Given the description of an element on the screen output the (x, y) to click on. 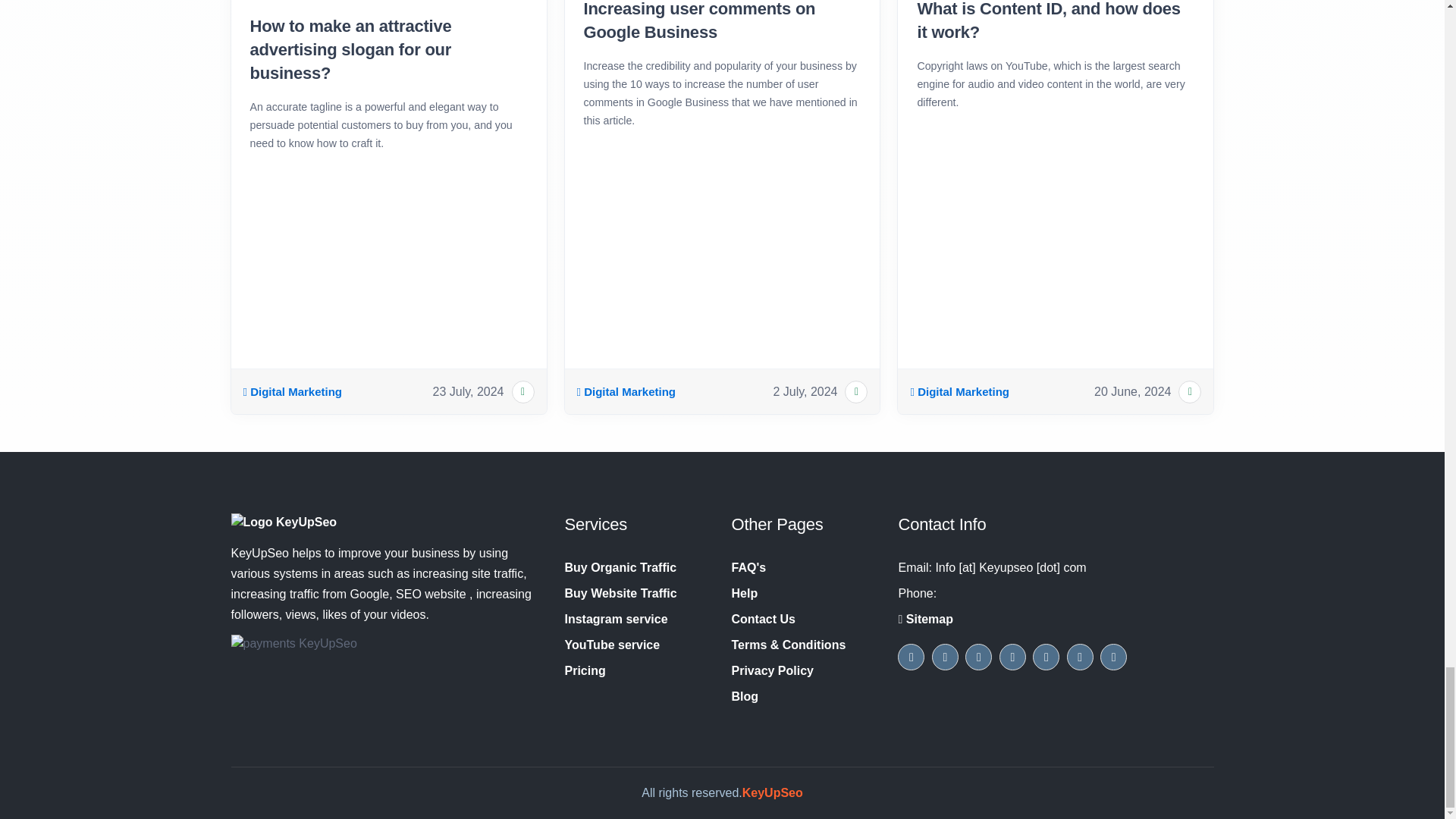
What is Content ID, and how does it work? (1055, 22)
FAQ's (747, 567)
Buy Organic Traffic (620, 567)
What is Content ID, and how does it work? (1055, 22)
Buy Website Traffic (620, 593)
SEO (292, 392)
Help (743, 593)
Instagram service (615, 619)
Pricing (584, 670)
Increasing user comments on Google Business (722, 22)
YouTube service (611, 645)
Increasing user comments on Google Business (722, 22)
SEO (625, 392)
